Given the description of an element on the screen output the (x, y) to click on. 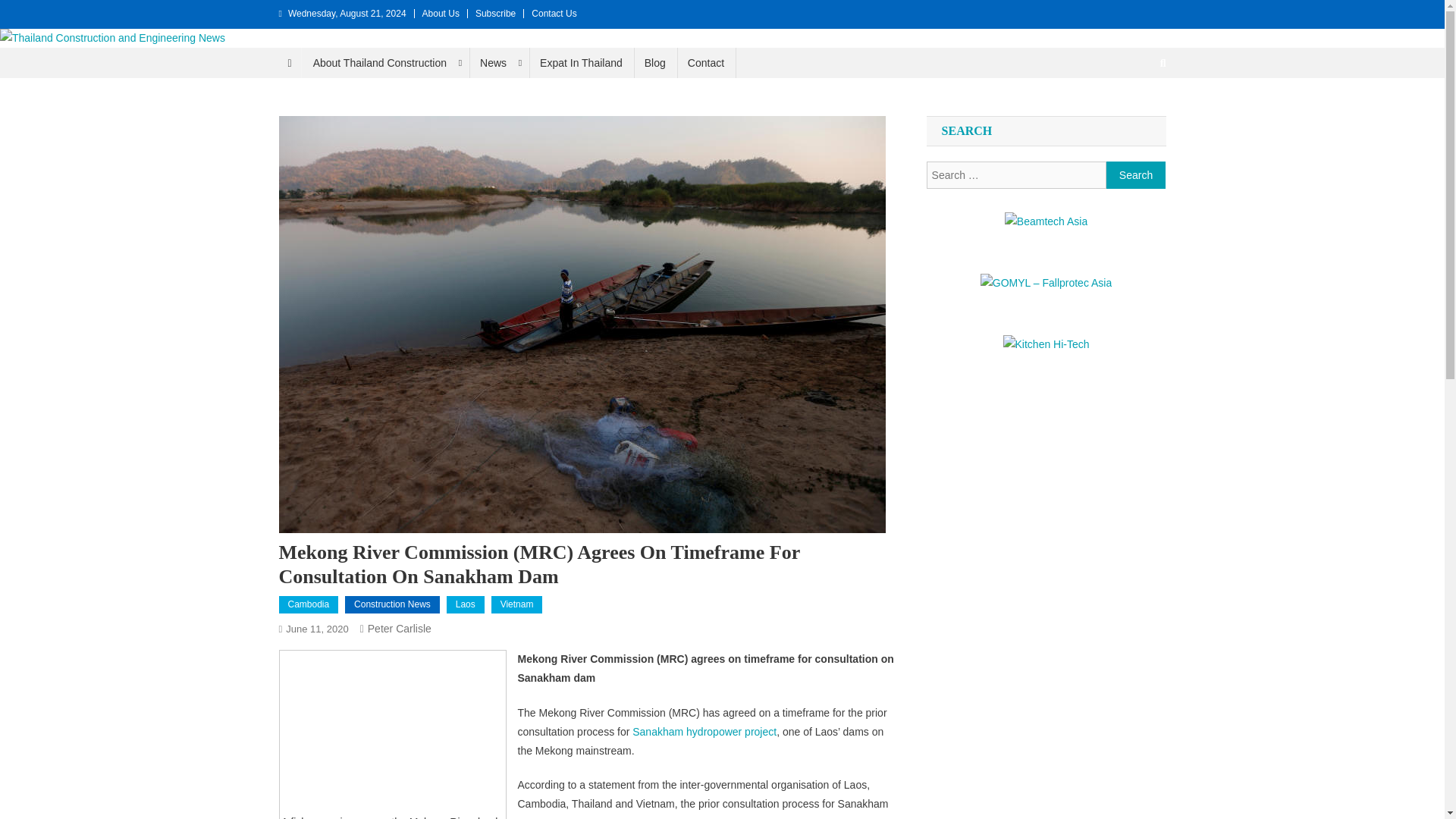
About Thailand Construction (385, 62)
Thailand Construction and Engineering News (262, 62)
Search (1136, 175)
Expat In Thailand (580, 62)
Contact Us (553, 13)
About Us (441, 13)
Sanakham hydropower project (703, 731)
Search (1133, 113)
Cambodia (309, 605)
Contact (705, 62)
